Given the description of an element on the screen output the (x, y) to click on. 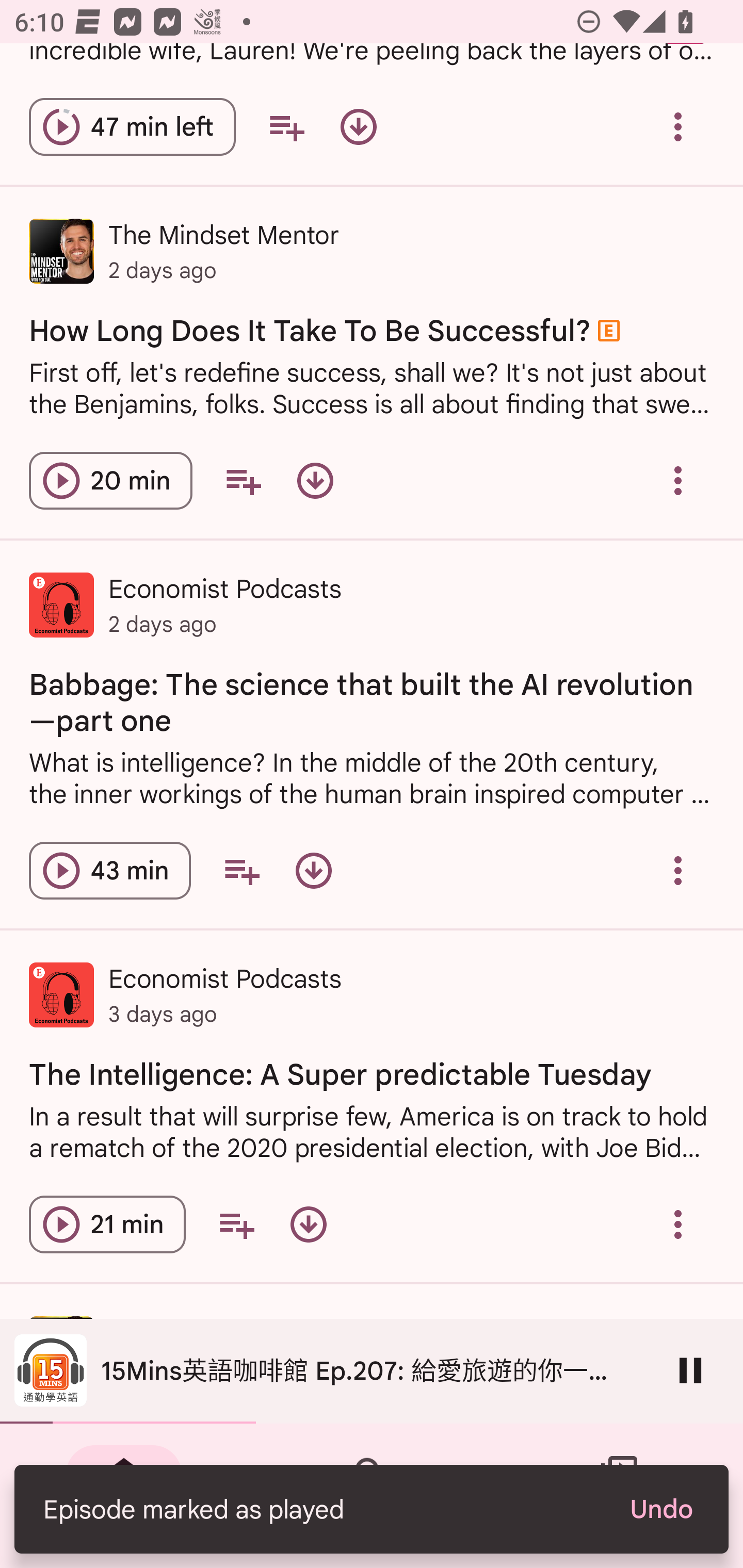
Play episode Meet My Wife 47 min left (131, 126)
Add to your queue (286, 126)
Download episode (358, 126)
Overflow menu (677, 126)
Add to your queue (242, 480)
Download episode (315, 480)
Overflow menu (677, 480)
Add to your queue (241, 870)
Download episode (313, 870)
Overflow menu (677, 870)
Add to your queue (235, 1224)
Download episode (308, 1224)
Overflow menu (677, 1224)
Pause (690, 1370)
Undo (660, 1509)
